Given the description of an element on the screen output the (x, y) to click on. 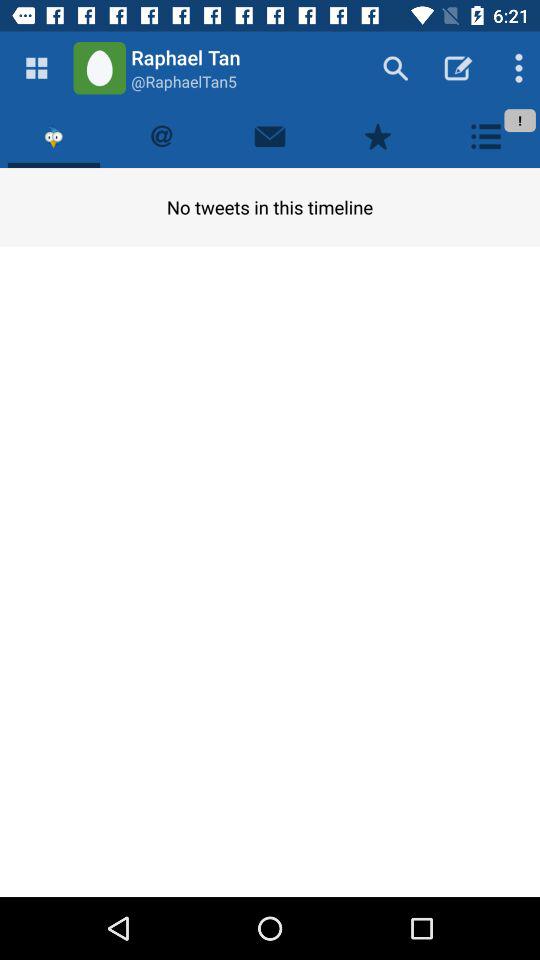
press no tweets in item (270, 206)
